Given the description of an element on the screen output the (x, y) to click on. 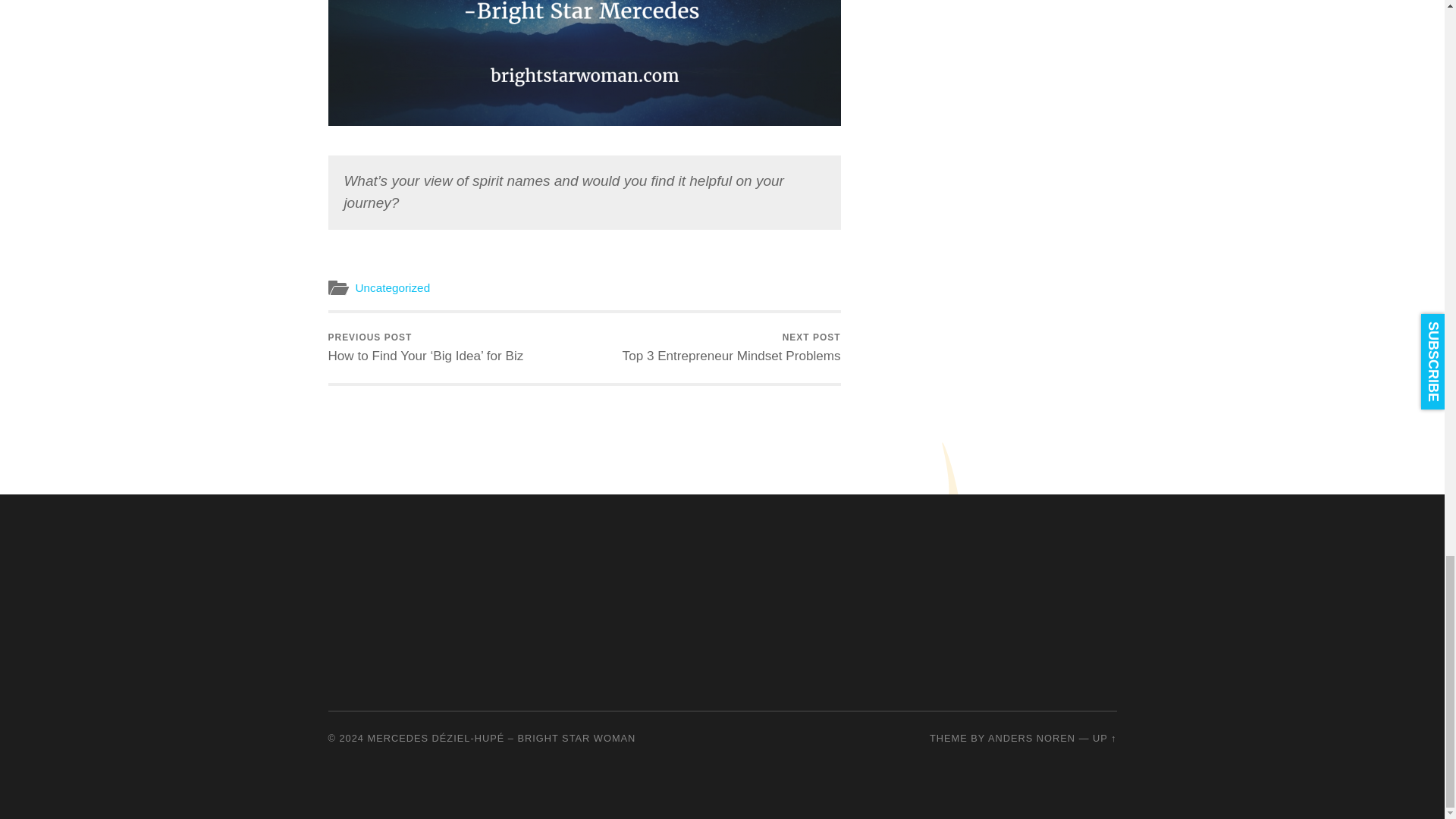
To the top (1104, 737)
Uncategorized (392, 287)
Next post: (732, 347)
